Given the description of an element on the screen output the (x, y) to click on. 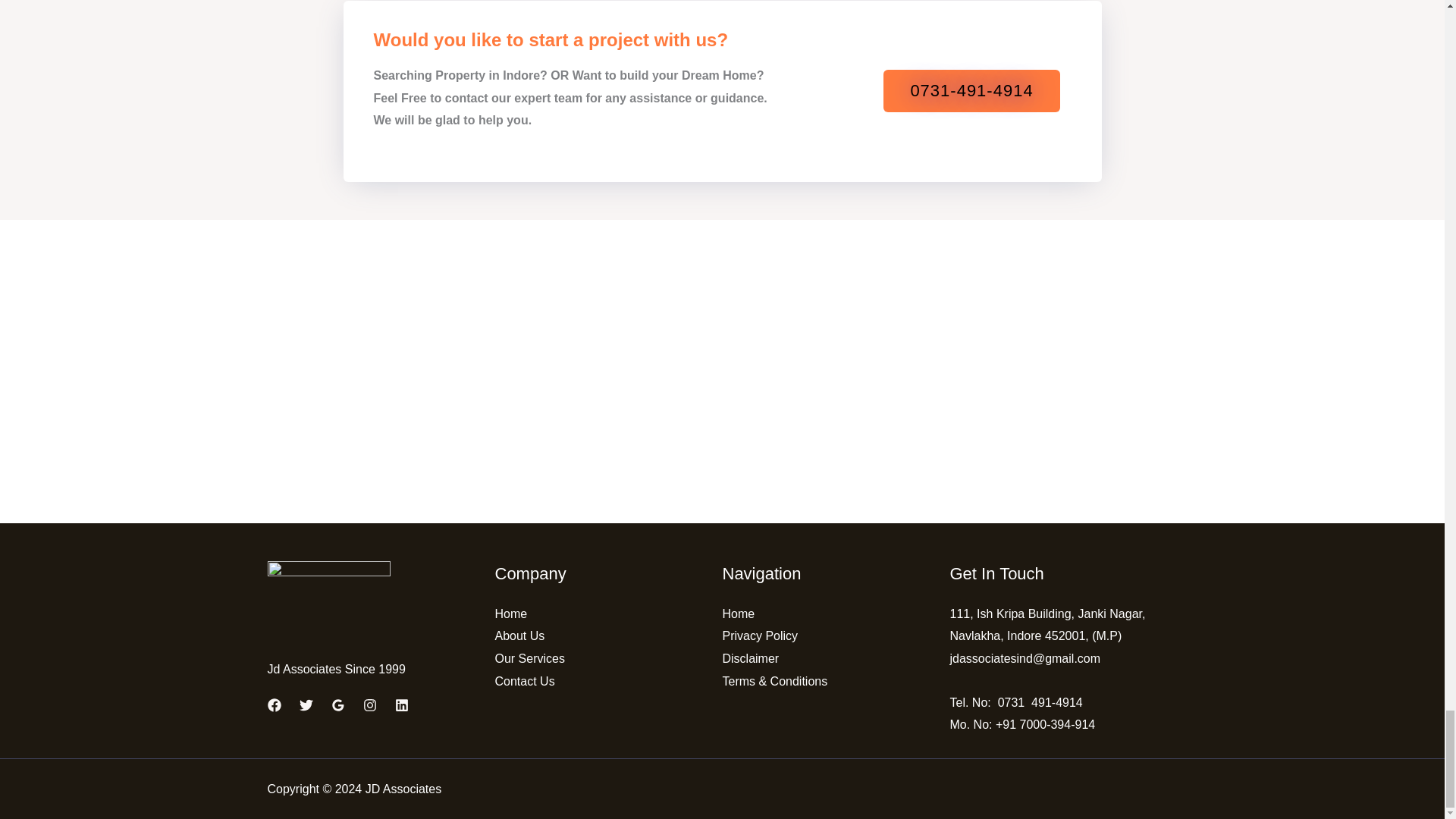
Our Services (529, 658)
0731-491-4914 (971, 90)
Disclaimer (750, 658)
Privacy Policy (759, 635)
Home (738, 613)
Home (511, 613)
Contact Us (524, 680)
About Us (519, 635)
